Given the description of an element on the screen output the (x, y) to click on. 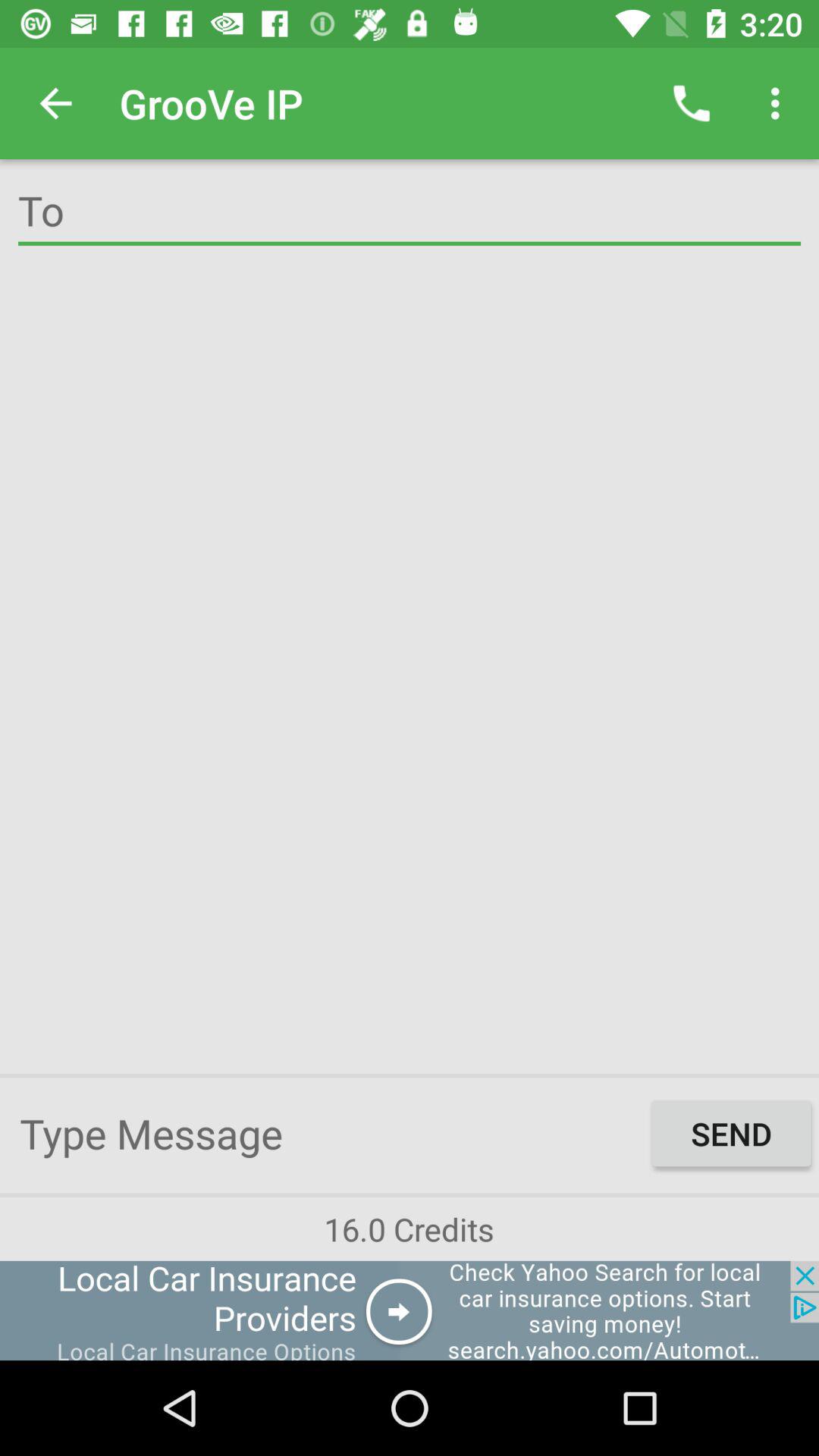
enter into search (409, 214)
